Given the description of an element on the screen output the (x, y) to click on. 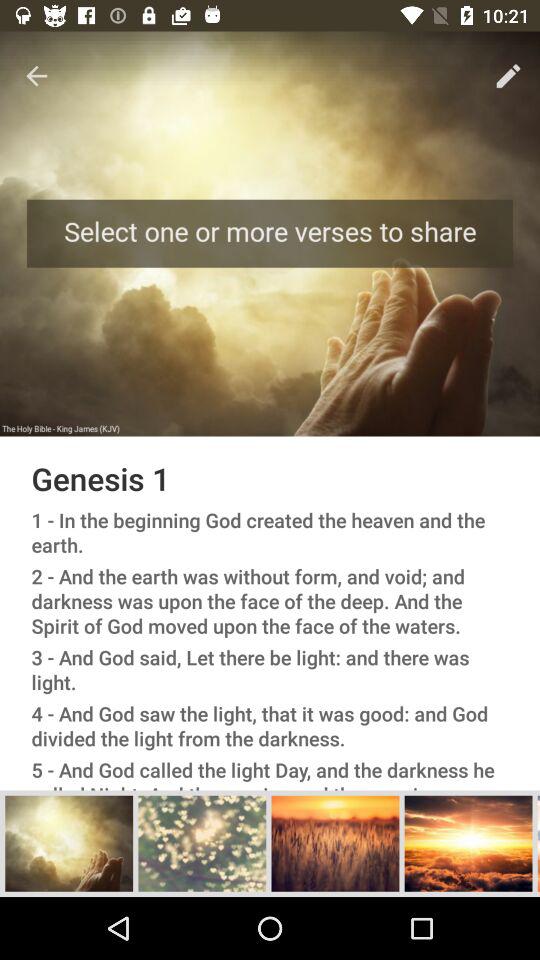
it so some image (69, 843)
